Given the description of an element on the screen output the (x, y) to click on. 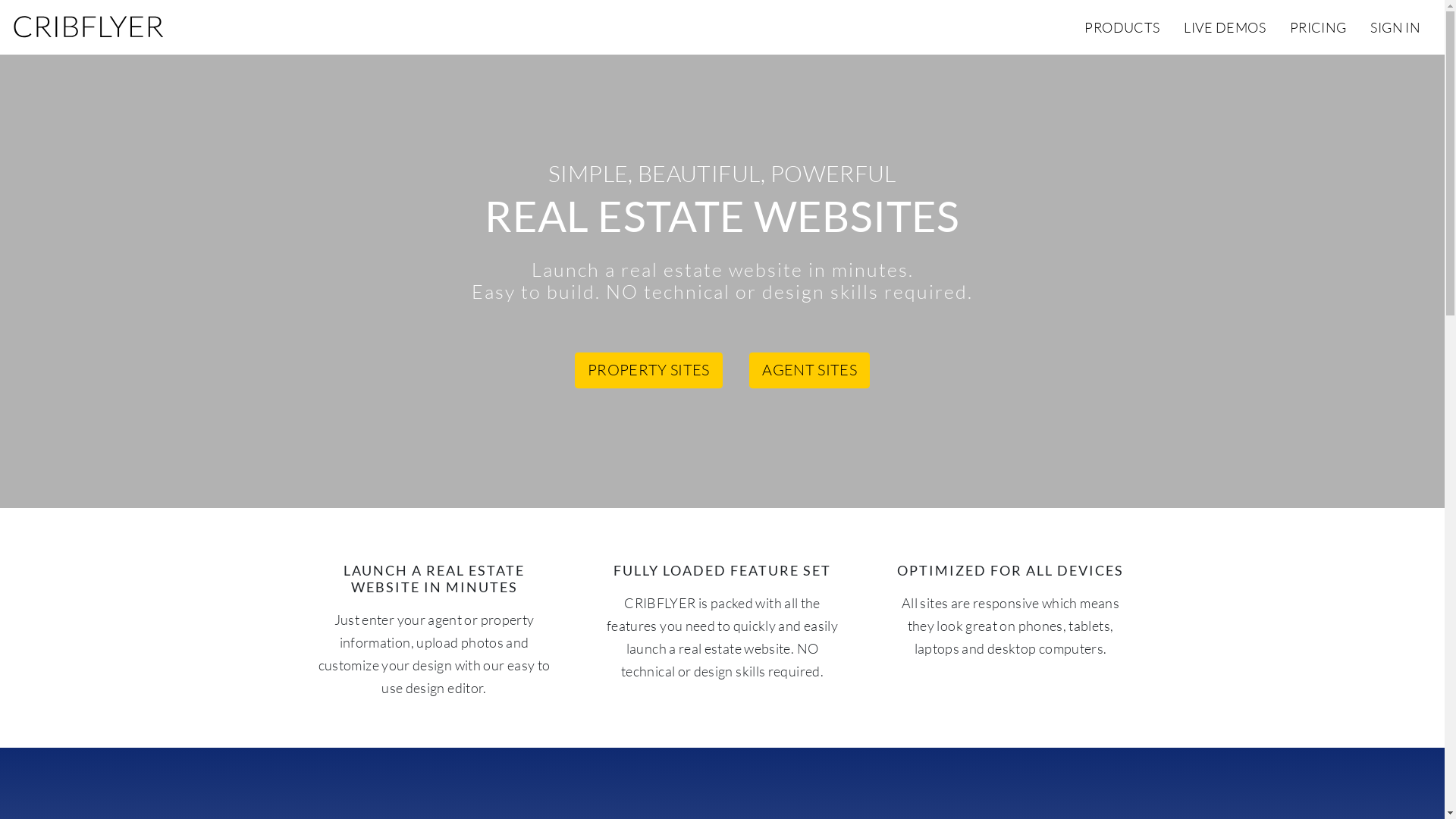
PRICING Element type: text (1317, 27)
SIGN IN Element type: text (1395, 27)
PRODUCTS Element type: text (1121, 27)
AGENT SITES Element type: text (809, 370)
PROPERTY SITES Element type: text (648, 370)
LIVE DEMOS Element type: text (1224, 27)
